Given the description of an element on the screen output the (x, y) to click on. 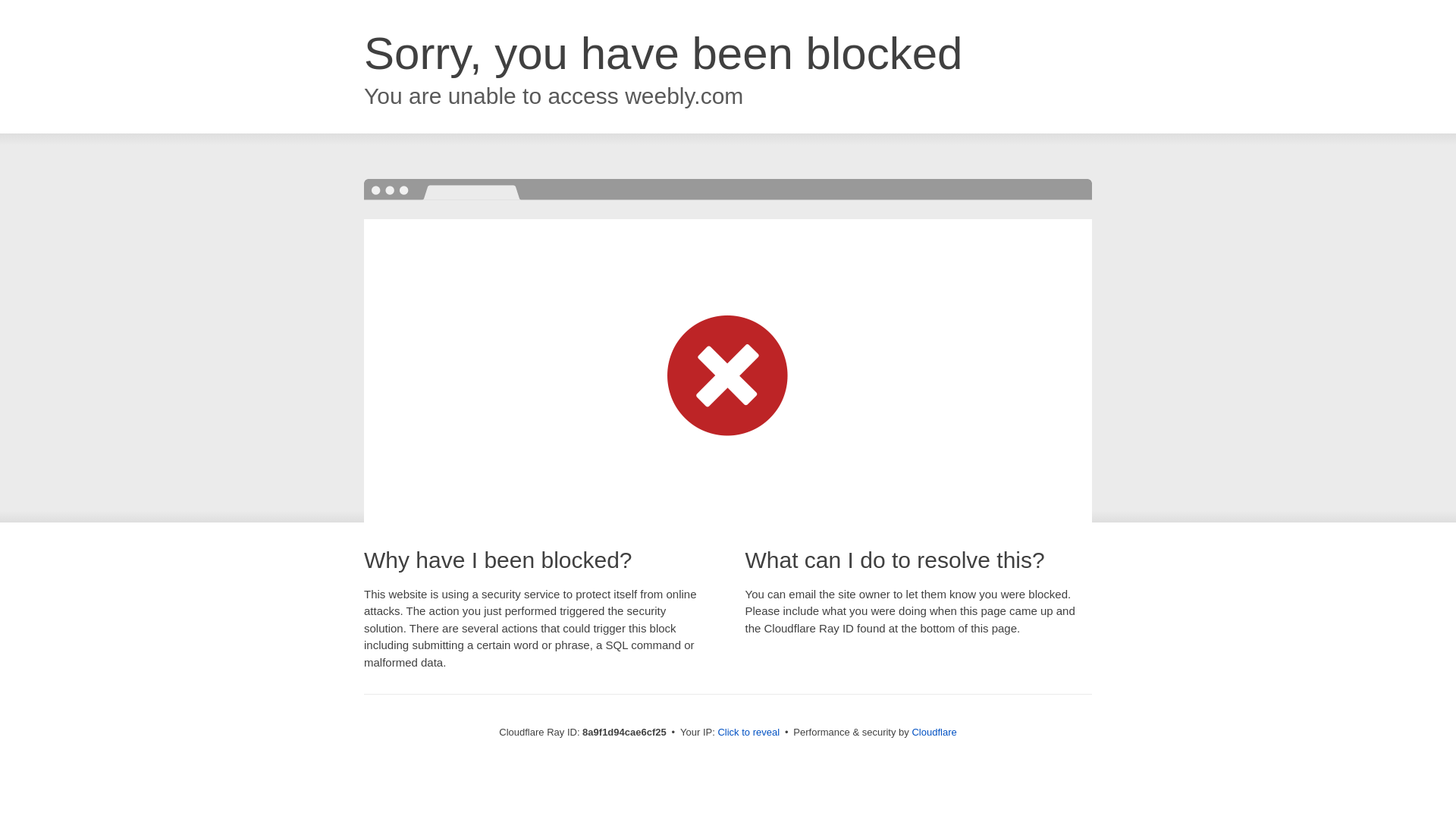
Click to reveal (747, 732)
Cloudflare (933, 731)
